Given the description of an element on the screen output the (x, y) to click on. 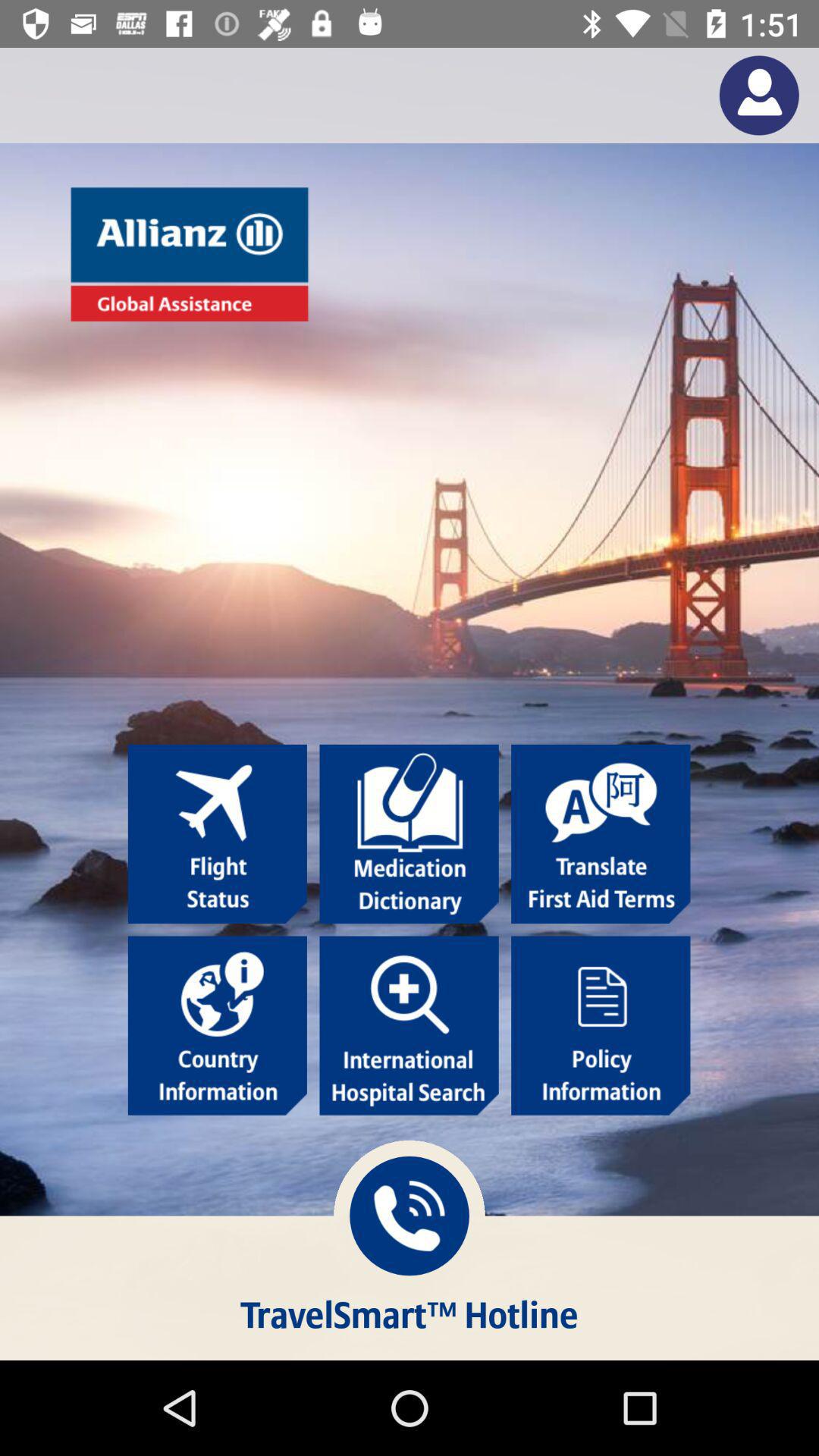
add the contact (759, 95)
